Given the description of an element on the screen output the (x, y) to click on. 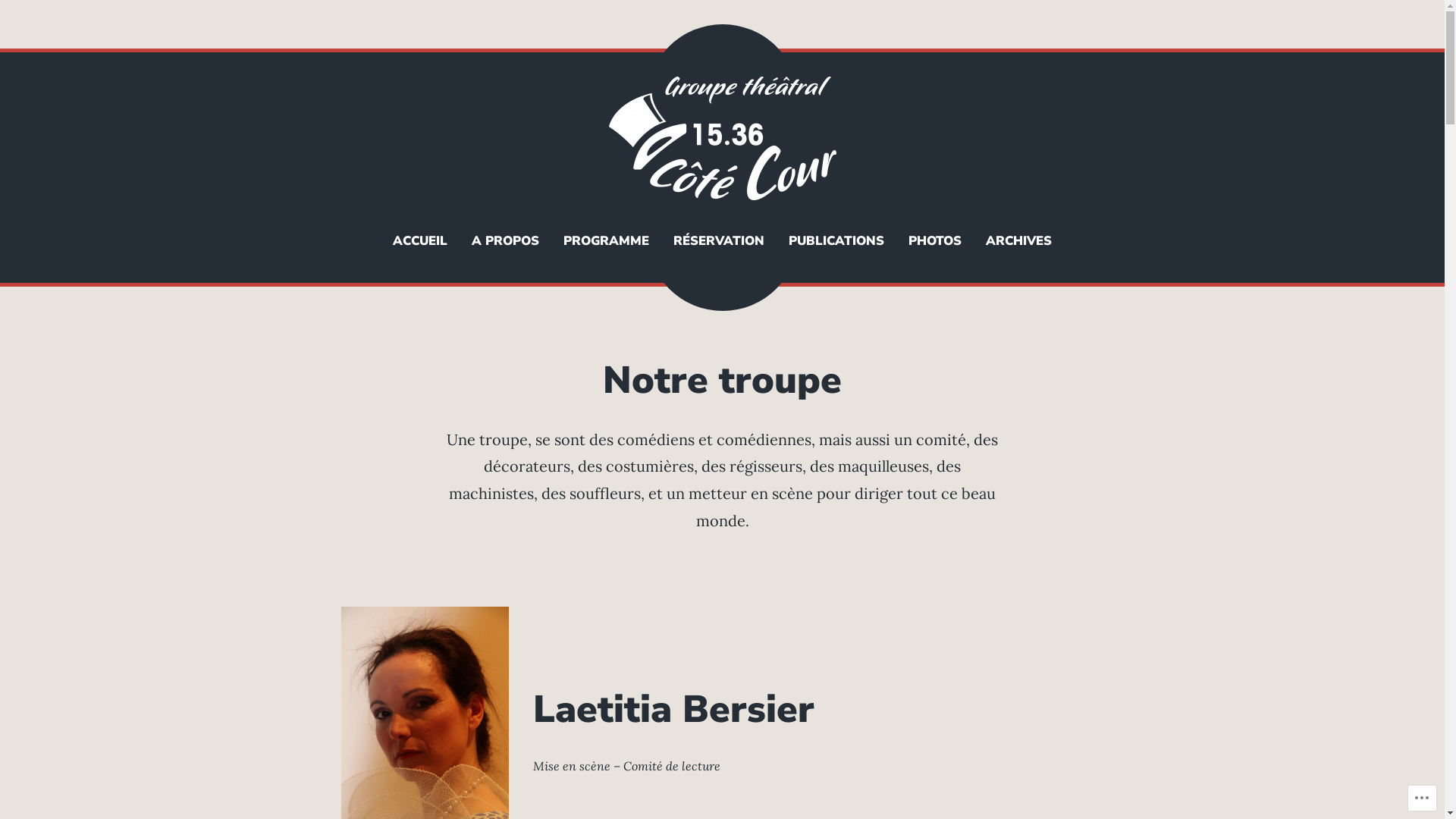
A PROPOS Element type: text (505, 241)
ARCHIVES Element type: text (1018, 241)
PROGRAMME Element type: text (606, 241)
ACCUEIL Element type: text (419, 241)
PUBLICATIONS Element type: text (836, 241)
PHOTOS Element type: text (934, 241)
